Given the description of an element on the screen output the (x, y) to click on. 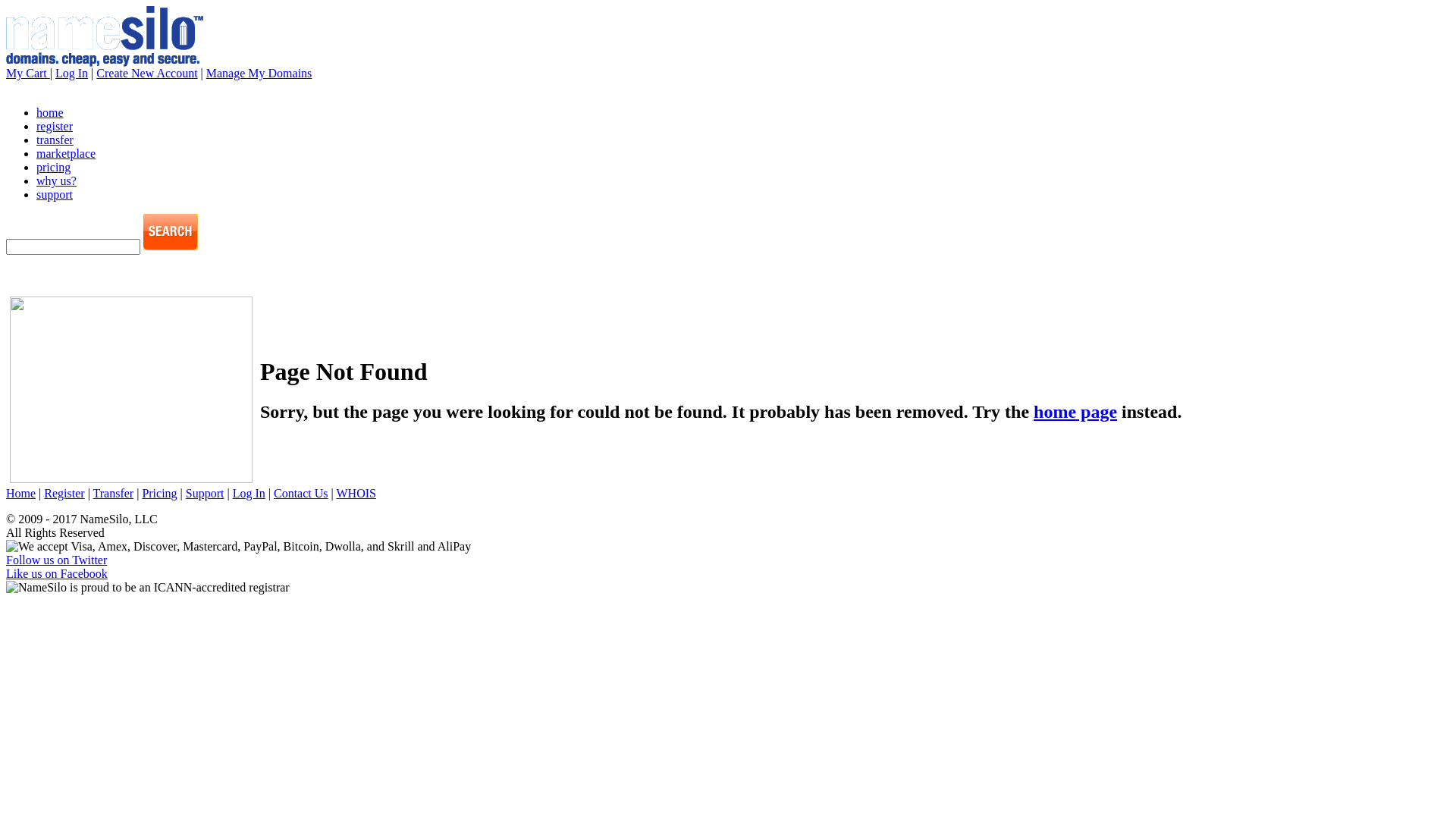
Like us on Facebook Element type: text (56, 573)
Support Element type: text (204, 492)
marketplace Element type: text (65, 153)
Manage My Domains Element type: text (259, 72)
WHOIS Element type: text (355, 492)
home Element type: text (49, 112)
Pricing Element type: text (158, 492)
home page Element type: text (1075, 411)
pricing Element type: text (53, 166)
Transfer Element type: text (113, 492)
register Element type: text (54, 125)
support Element type: text (54, 194)
NameSilo is proud to be an ICANN-accredited registrar Element type: hover (147, 587)
Create New Account Element type: text (146, 72)
why us? Element type: text (56, 180)
Log In Element type: text (71, 72)
Home Element type: text (20, 492)
transfer Element type: text (54, 139)
Follow us on Twitter Element type: text (56, 559)
Log In Element type: text (248, 492)
My Cart Element type: text (28, 72)
Register Element type: text (63, 492)
Contact Us Element type: text (300, 492)
